Given the description of an element on the screen output the (x, y) to click on. 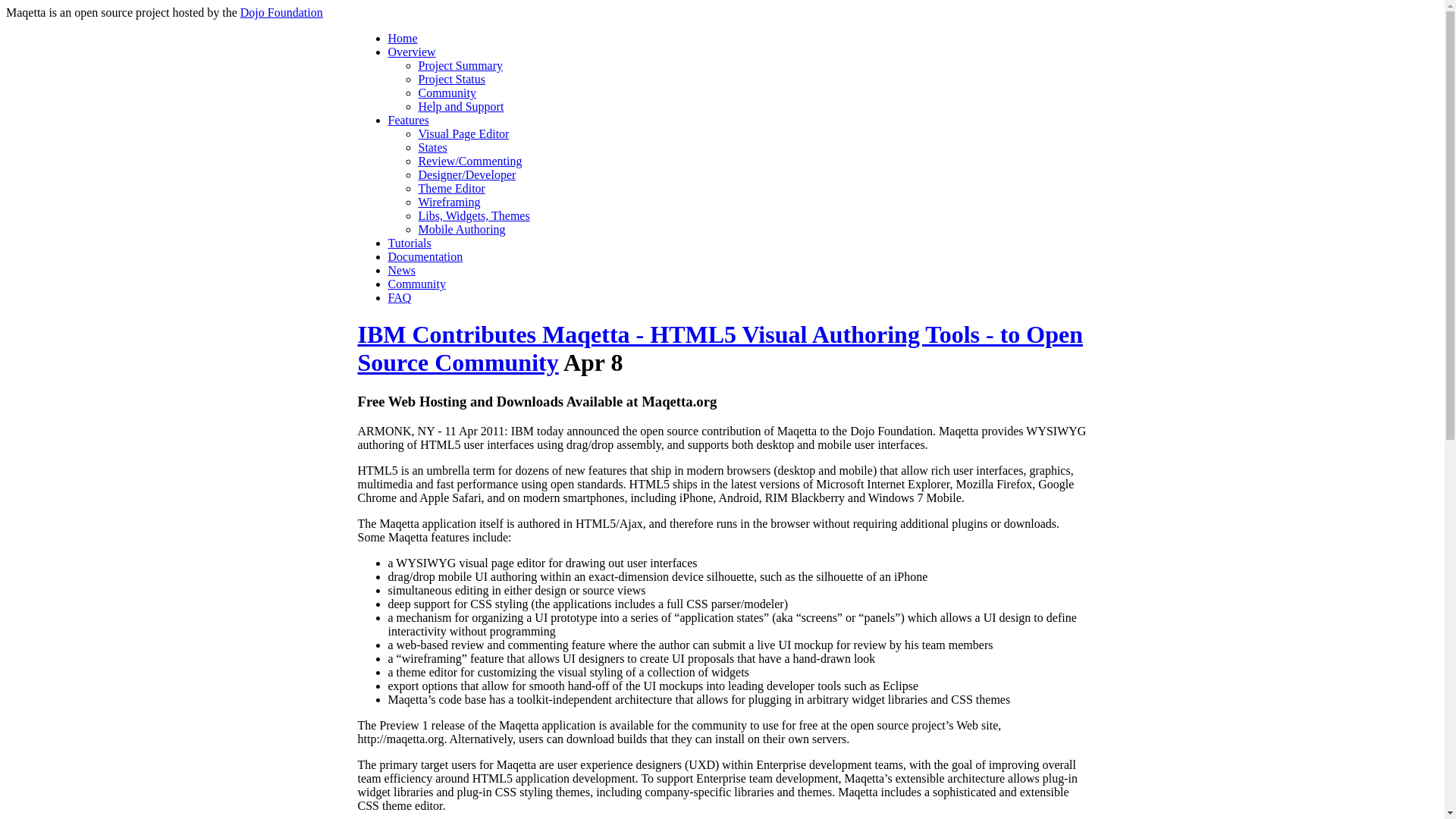
States (432, 146)
Theme Editor (451, 187)
Overview (411, 51)
Project Status (451, 78)
News (401, 269)
FAQ (400, 297)
Mobile Authoring (462, 228)
Home (402, 38)
Visual Page Editor (464, 133)
Wireframing (449, 201)
Dojo Foundation web site (281, 11)
Help and Support (461, 106)
Documentation (425, 256)
Project Summary (461, 65)
